Given the description of an element on the screen output the (x, y) to click on. 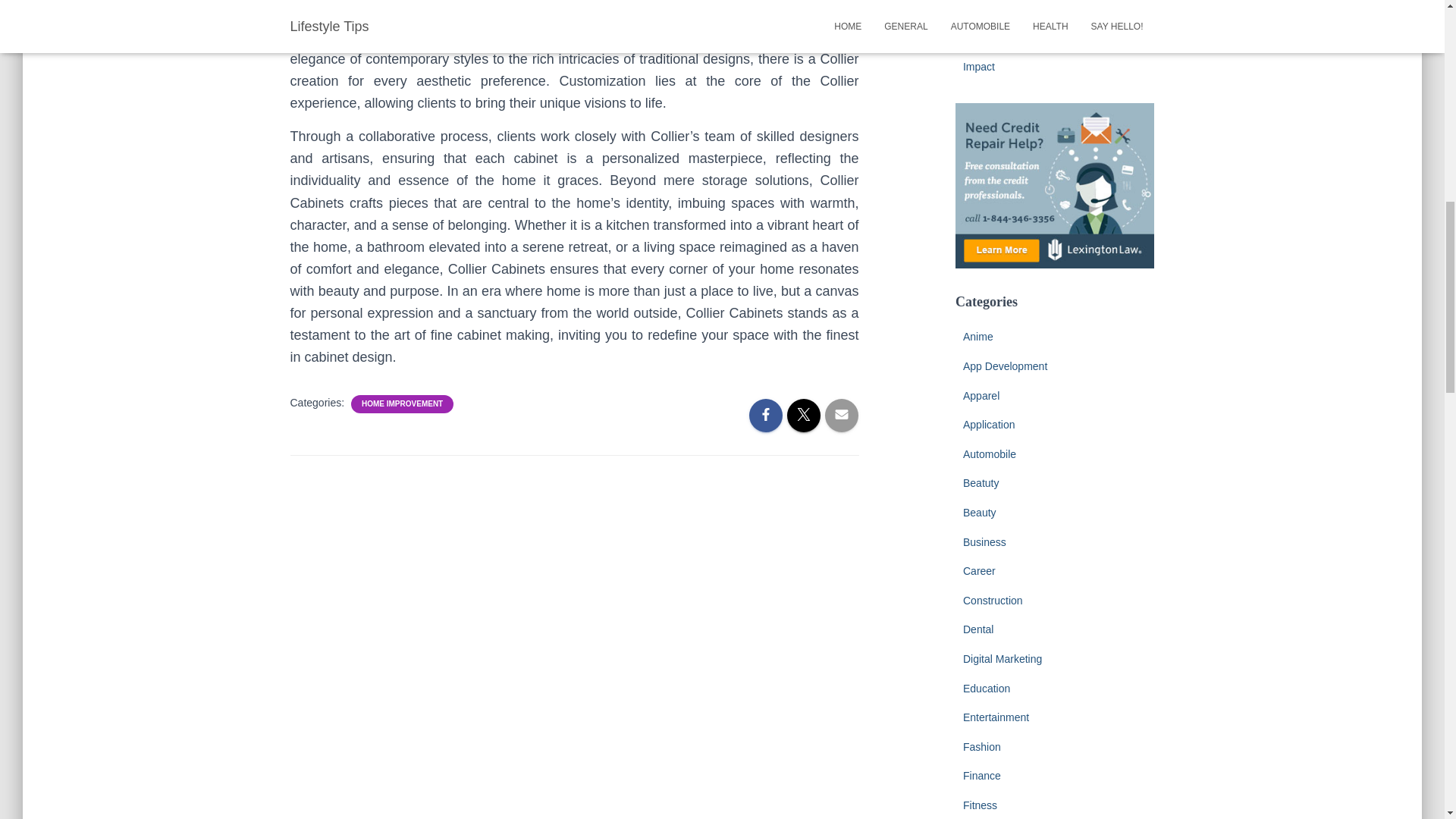
Anime (977, 336)
Career (978, 571)
Fitness (979, 805)
Education (986, 688)
Beatuty (980, 482)
Digital Marketing (1002, 658)
App Development (1004, 366)
Construction (992, 600)
Dental (977, 629)
HOME IMPROVEMENT (401, 403)
Finance (981, 775)
Fashion (981, 746)
Business (984, 541)
Application (988, 424)
